Given the description of an element on the screen output the (x, y) to click on. 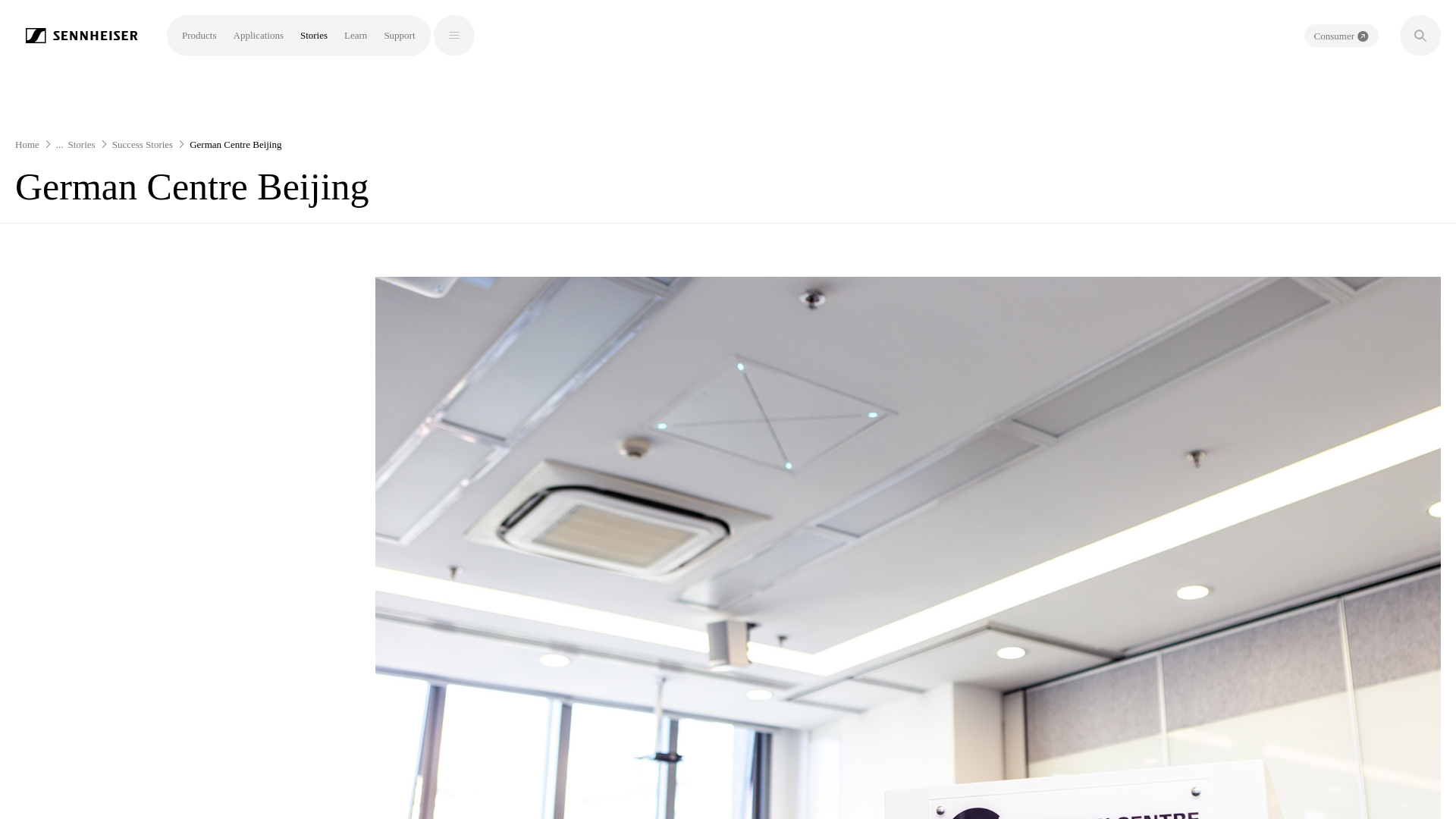
Learn (354, 35)
Home (26, 144)
Stories (313, 35)
Applications (257, 35)
Success Stories (142, 144)
Stories (82, 144)
Products (199, 35)
Support (399, 35)
Consumer (1341, 35)
